Given the description of an element on the screen output the (x, y) to click on. 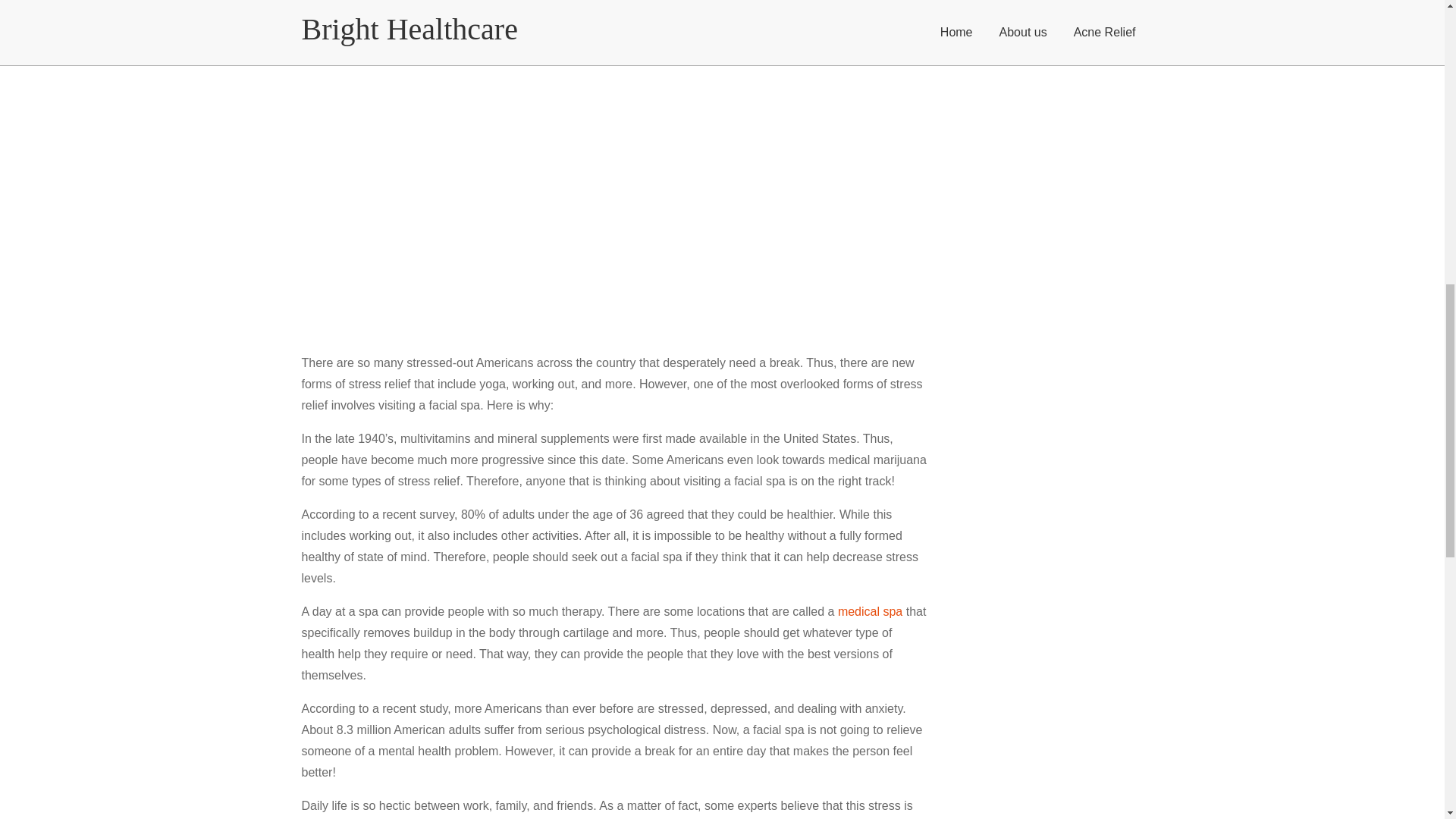
Hiar Replacement Methods (72, 594)
A Guide to Same Day Pediatric Services (104, 608)
Hydrafacial dallas, Iv bar (515, 215)
medical spa (515, 215)
Understanding the Benefits of Breast Thermography (163, 730)
Full med spa (84, 530)
Procedures the Best Cosmetic Dermatologists Recommend (179, 771)
Prp hair treatment dallas (181, 530)
Tighten the skin (285, 530)
Asbestosis: Causes, Symptoms, Management, and Prevention (186, 785)
logged in (92, 666)
